Given the description of an element on the screen output the (x, y) to click on. 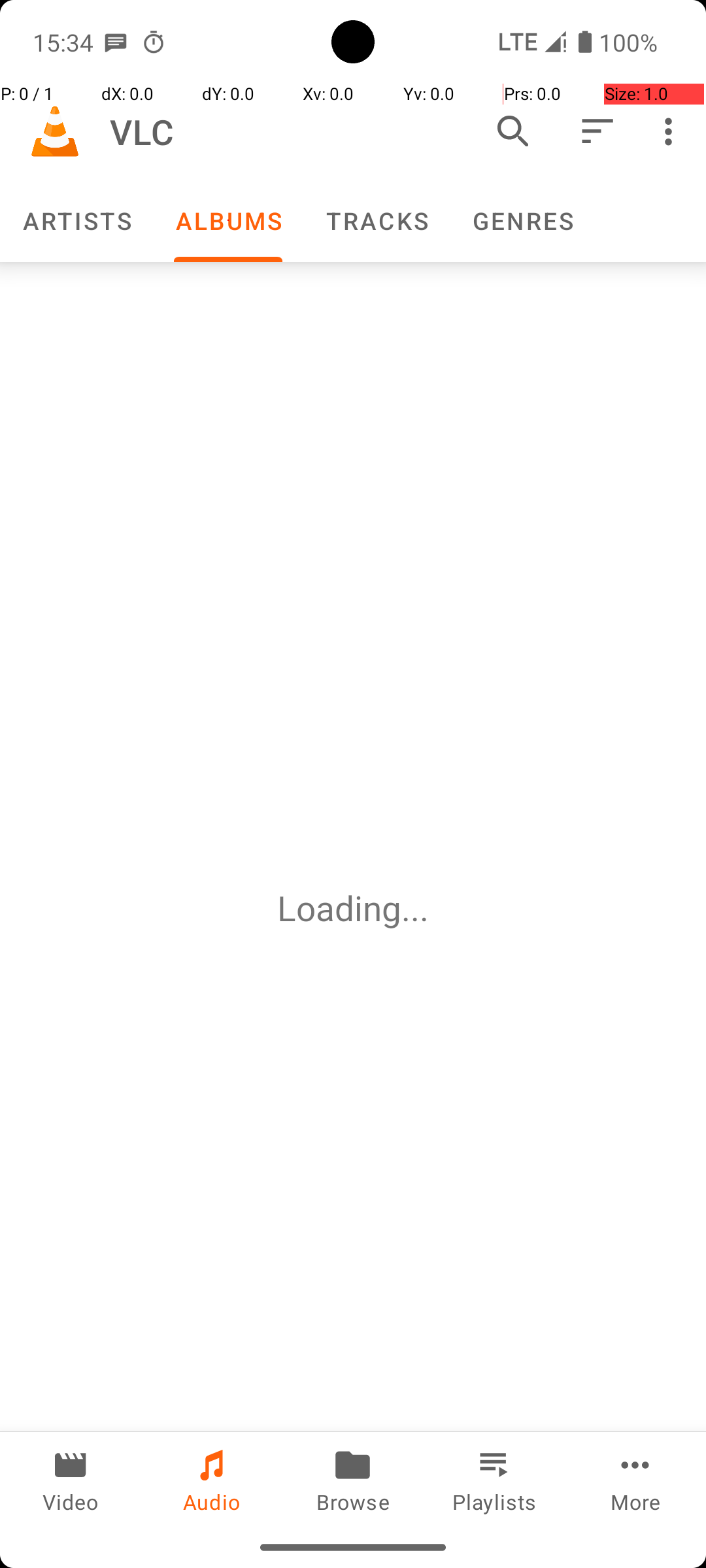
... Element type: android.widget.TextView (414, 907)
